Given the description of an element on the screen output the (x, y) to click on. 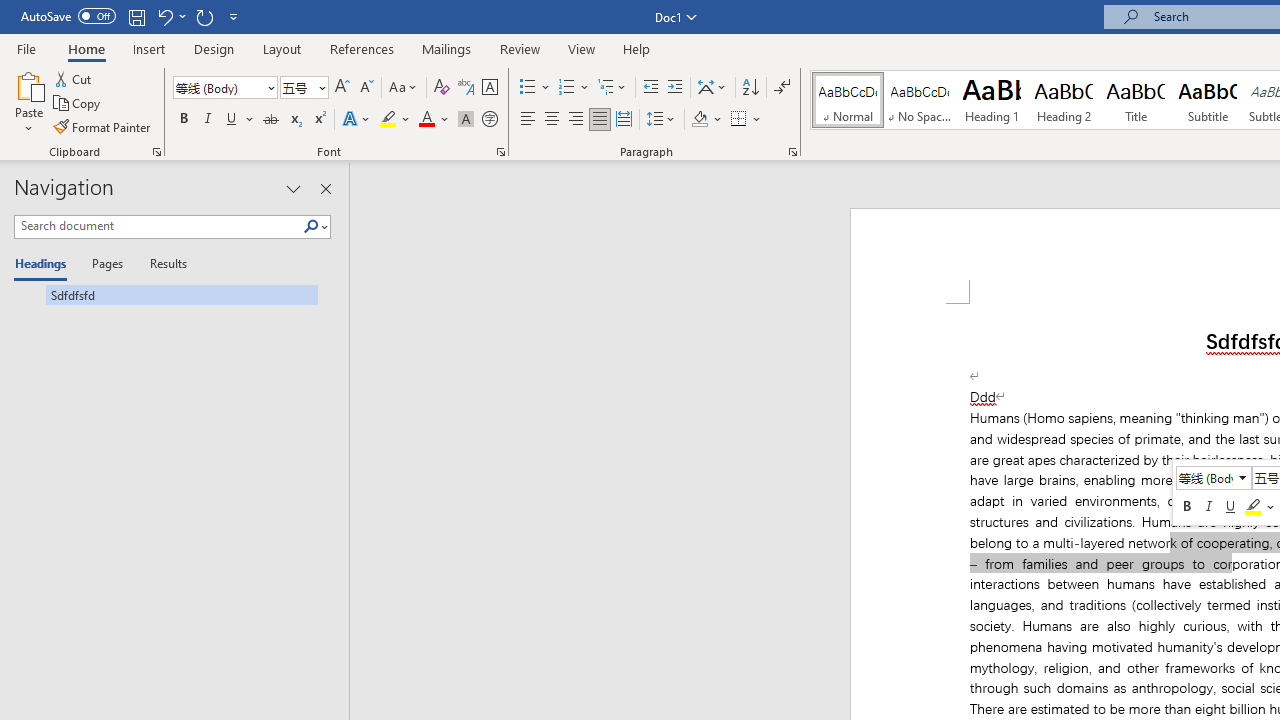
Repeat Insert Shape (204, 15)
